Given the description of an element on the screen output the (x, y) to click on. 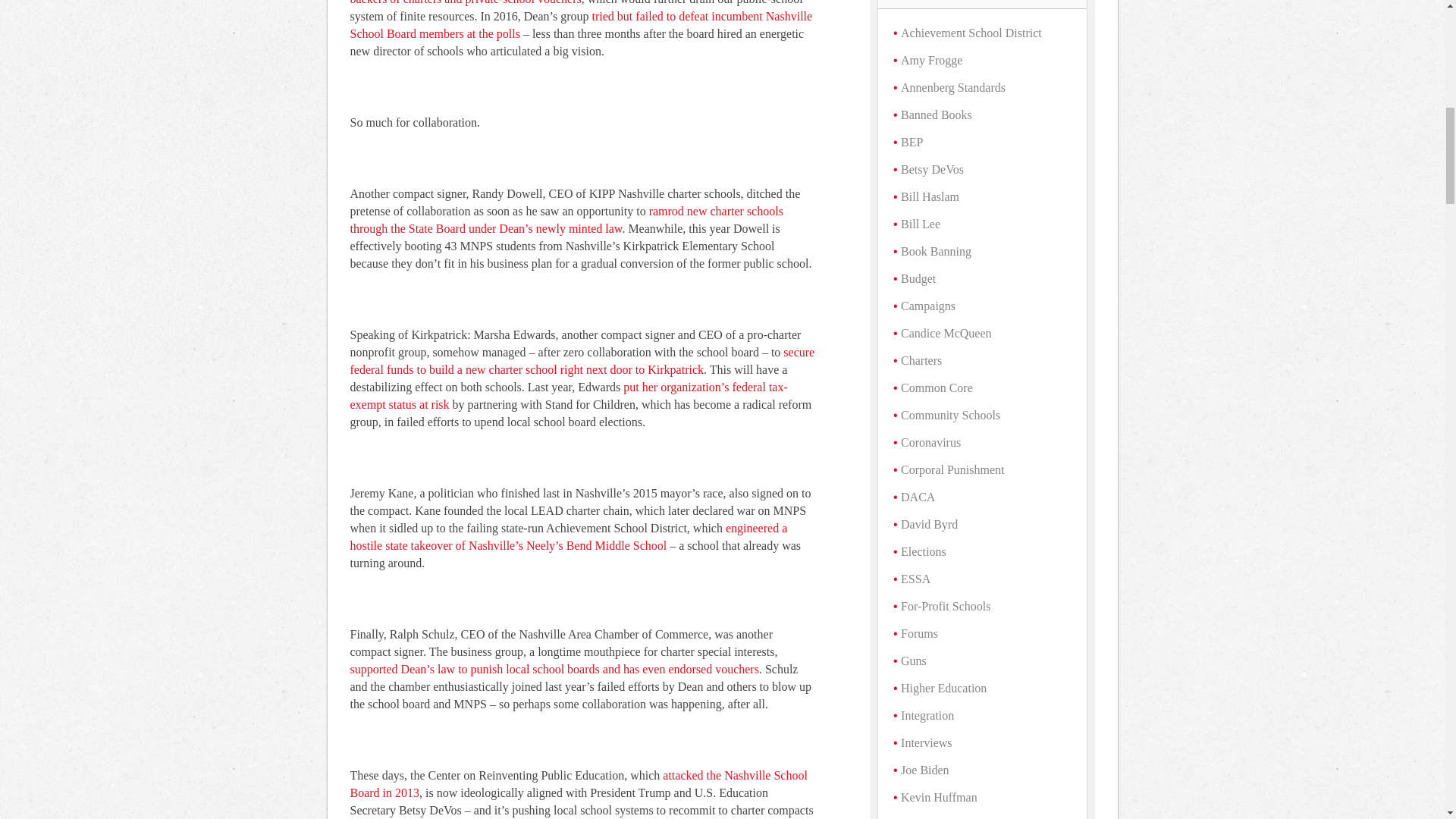
attacked the Nashville School Board in 2013 (579, 784)
backers of charters and private-school vouchers (465, 2)
